Given the description of an element on the screen output the (x, y) to click on. 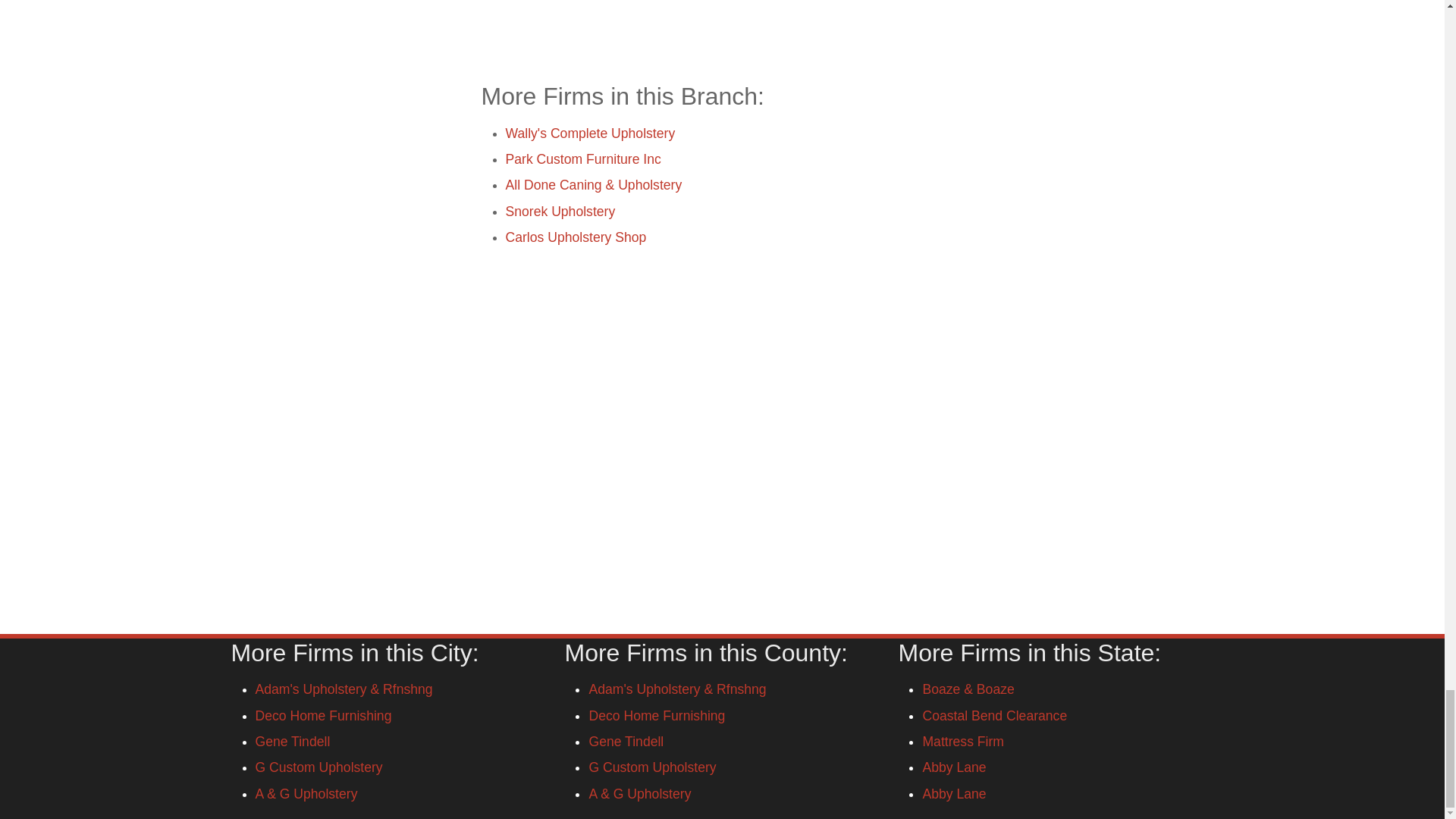
Park Custom Furniture Inc (583, 159)
Snorek Upholstery (559, 211)
Wally's Complete Upholstery (590, 133)
Carlos Upholstery Shop (575, 237)
